Given the description of an element on the screen output the (x, y) to click on. 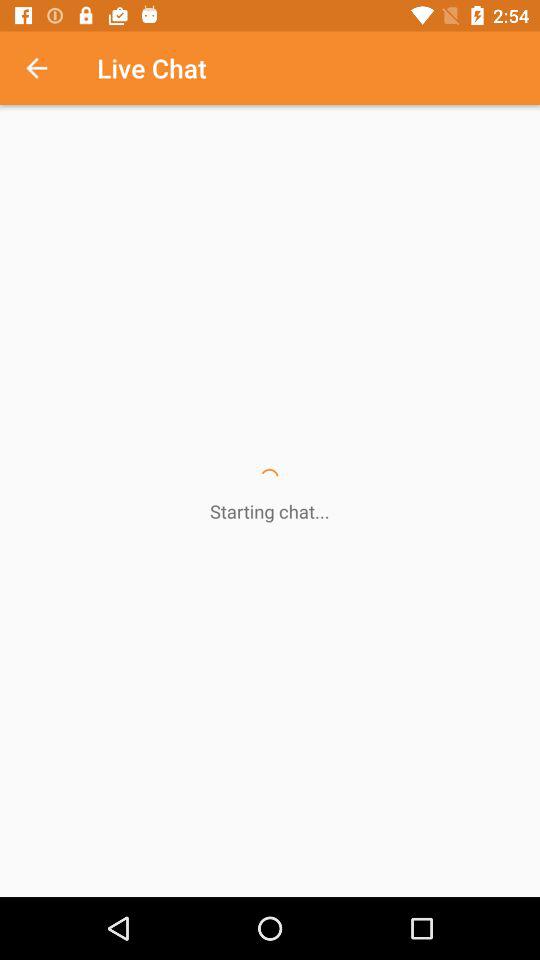
go back (47, 68)
